Given the description of an element on the screen output the (x, y) to click on. 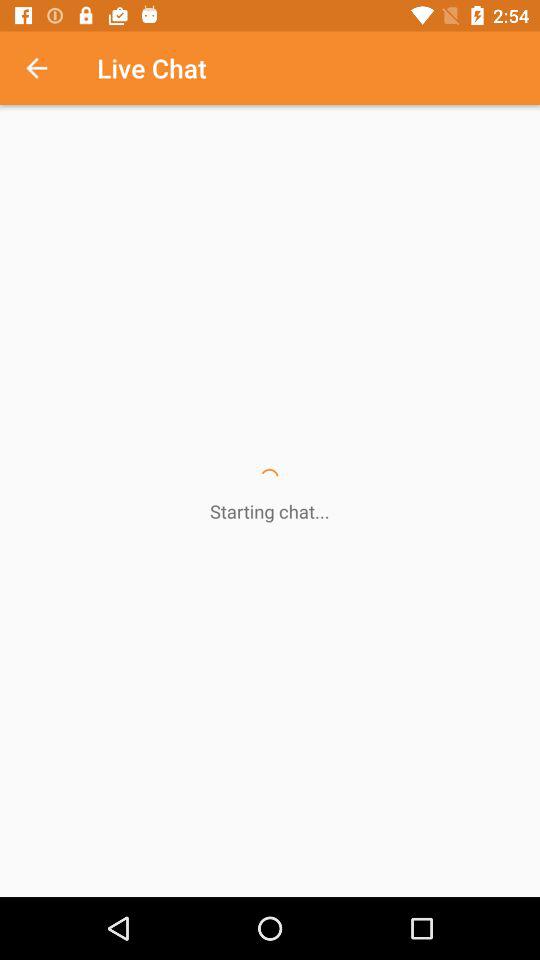
go back (47, 68)
